Given the description of an element on the screen output the (x, y) to click on. 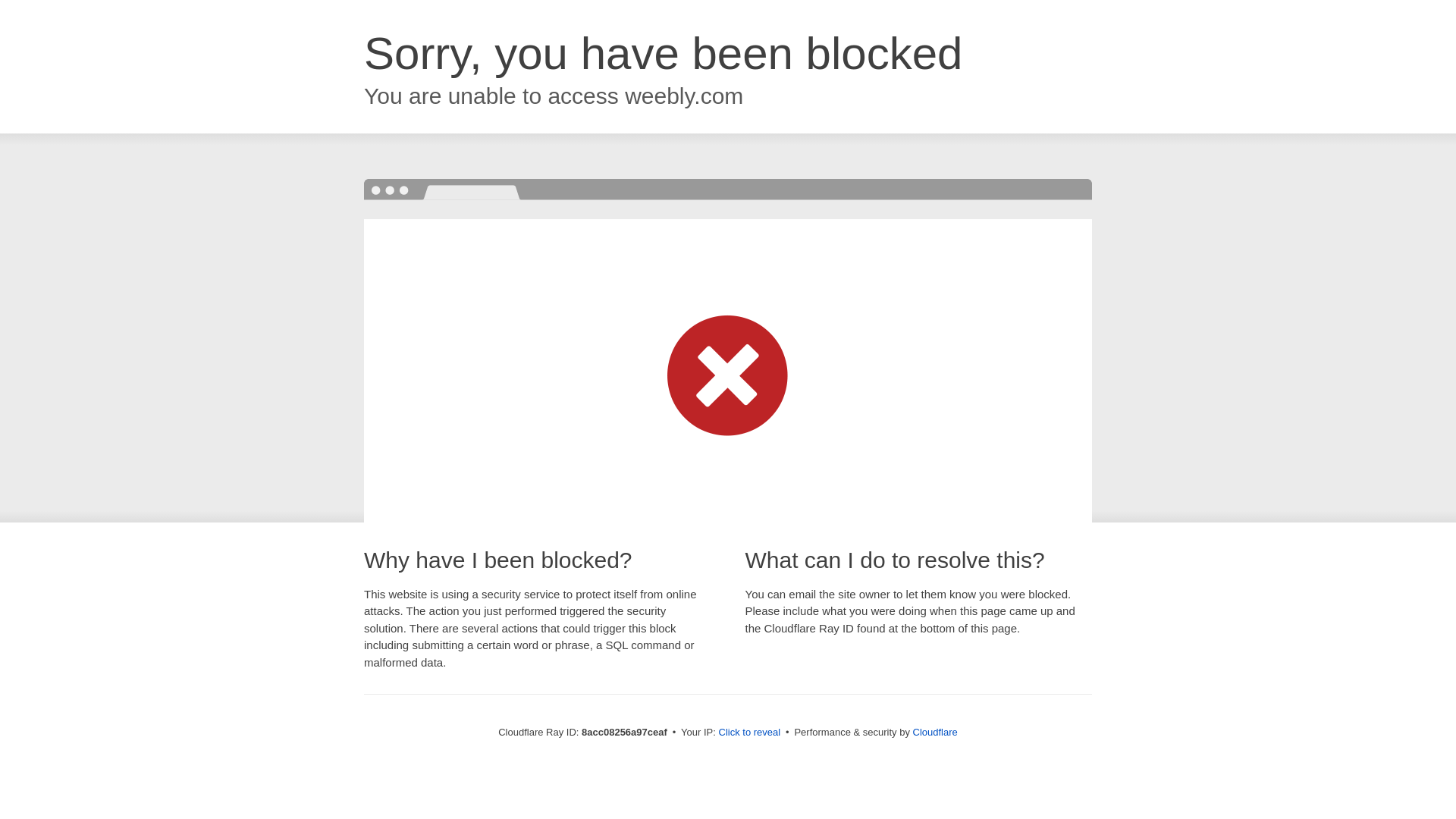
Click to reveal (749, 732)
Cloudflare (935, 731)
